Given the description of an element on the screen output the (x, y) to click on. 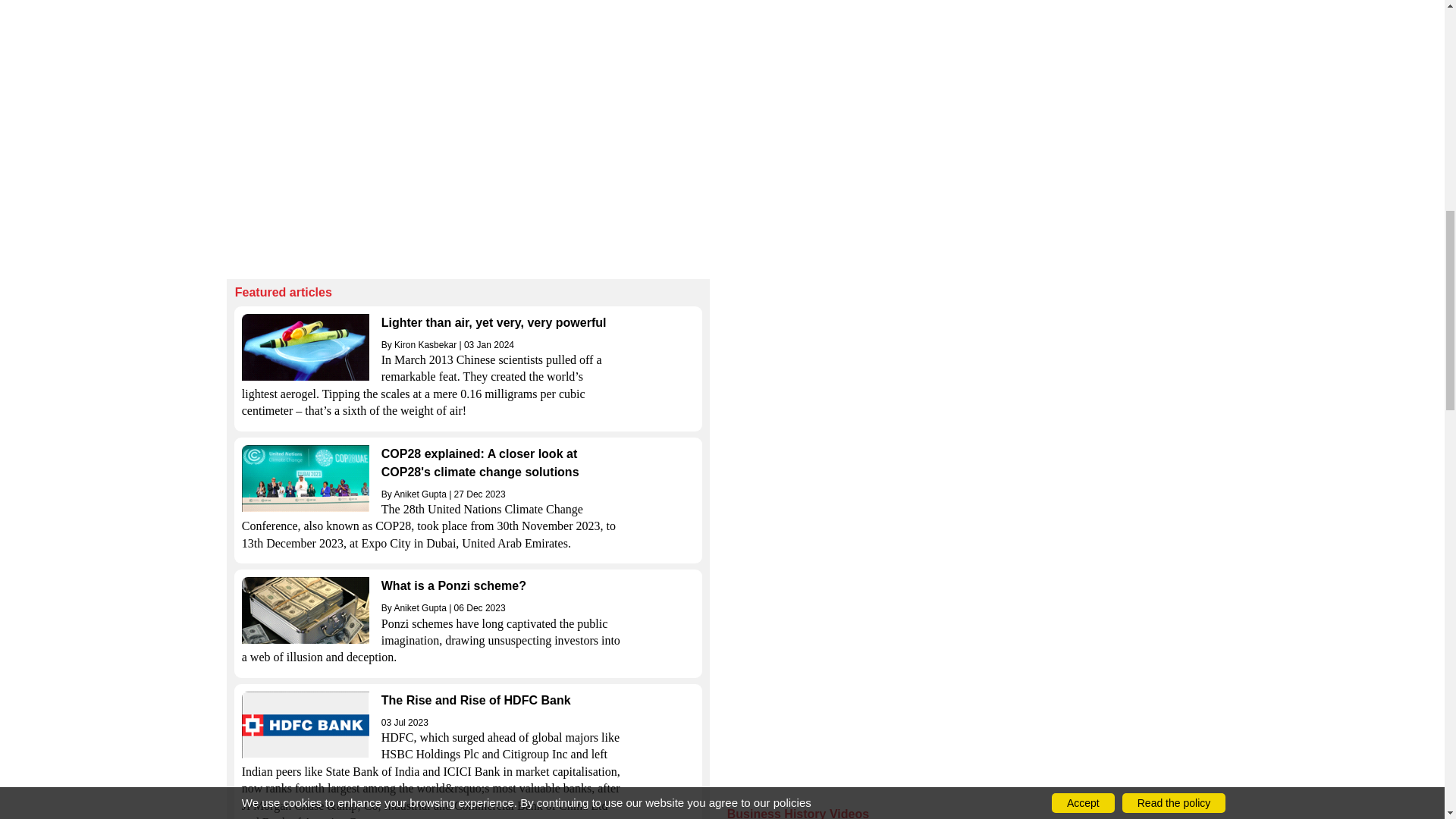
Advertisement (468, 128)
